Given the description of an element on the screen output the (x, y) to click on. 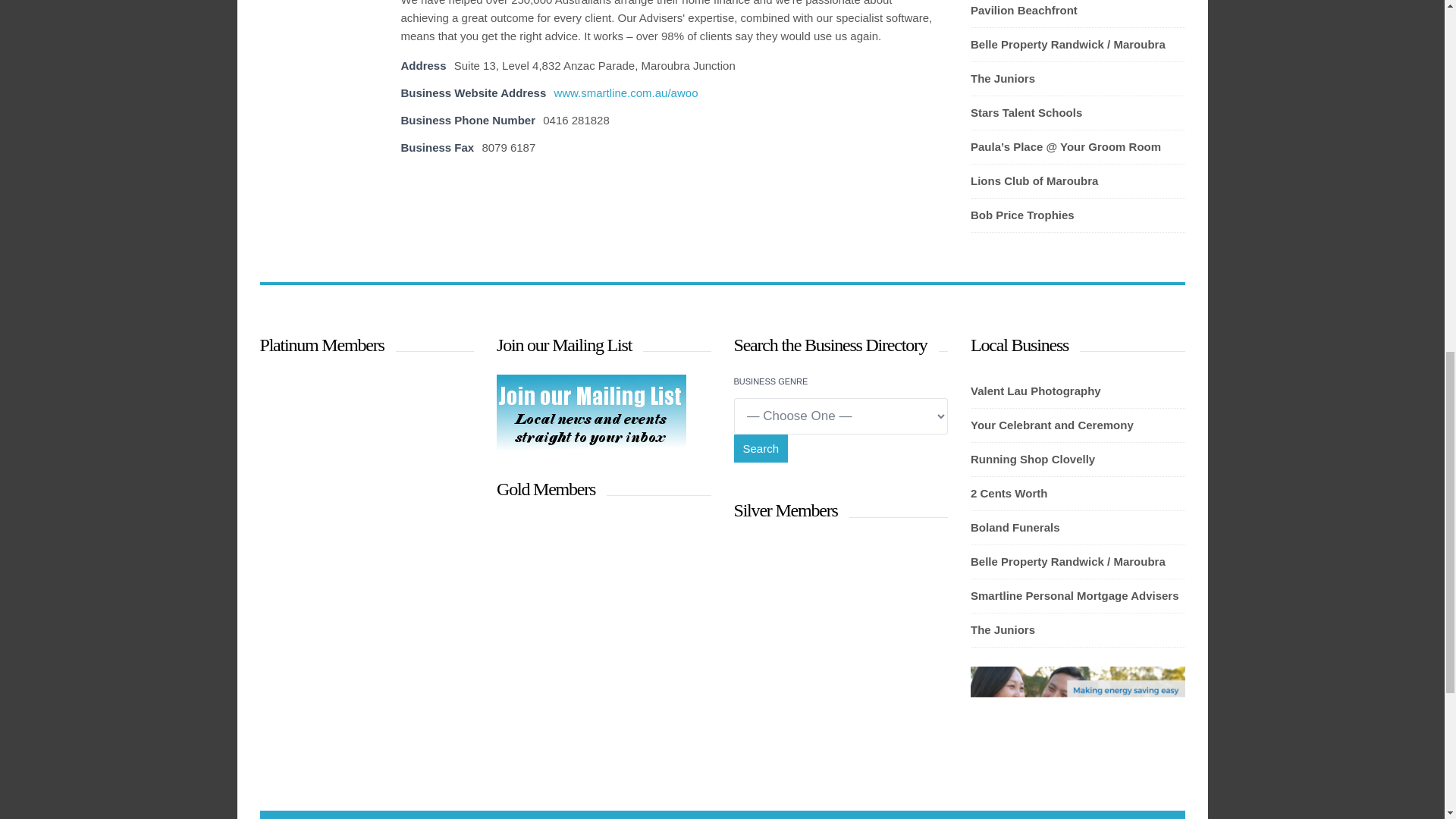
Join our Mailing List (590, 445)
Pavilion Beachfront (1078, 10)
Search (761, 448)
The Juniors (1078, 78)
Search (761, 448)
